Given the description of an element on the screen output the (x, y) to click on. 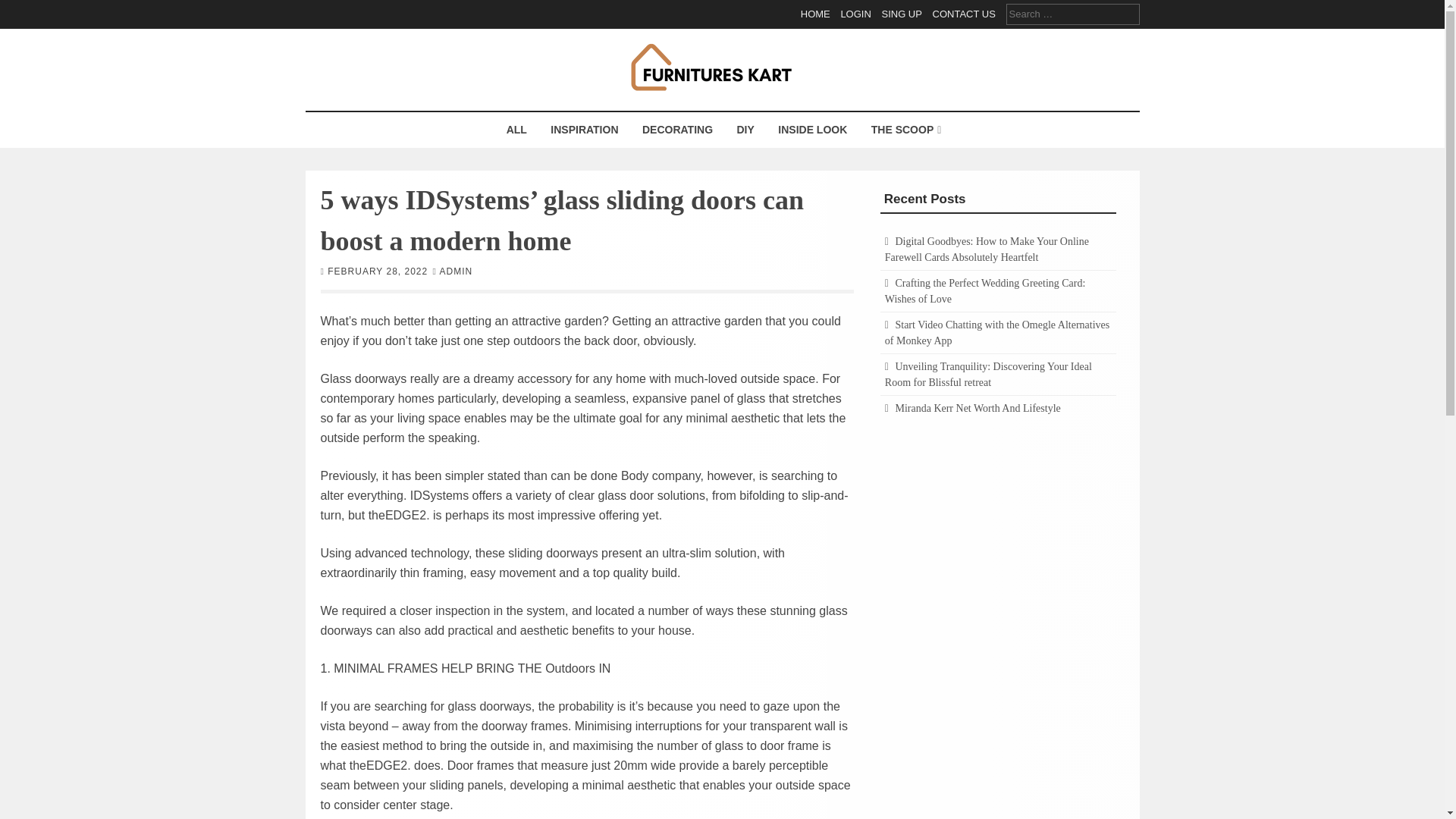
DECORATING (676, 130)
ADMIN (456, 270)
Miranda Kerr Net Worth And Lifestyle (977, 408)
CONTACT US (964, 13)
INSIDE LOOK (812, 130)
DIY (744, 130)
FEBRUARY 28, 2022 (377, 270)
ALL (516, 130)
